Given the description of an element on the screen output the (x, y) to click on. 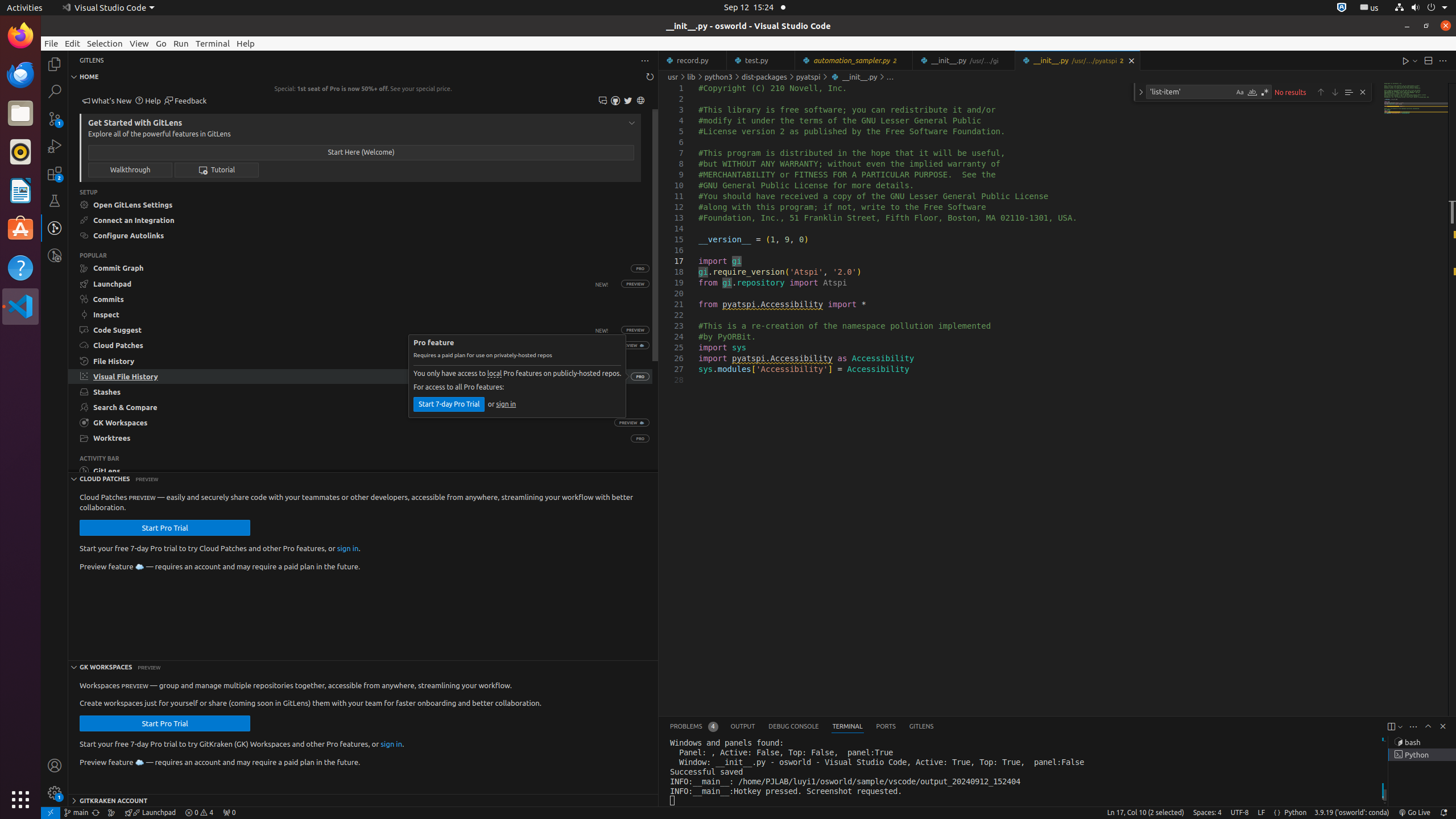
Feedback Element type: link (185, 100)
Launch Profile... Element type: push-button (1399, 726)
Notifications Element type: push-button (1443, 812)
Problems (Ctrl+Shift+M) - Total 4 Problems Element type: page-tab (693, 726)
Start 7-day Pro Trial Element type: link (449, 404)
